Given the description of an element on the screen output the (x, y) to click on. 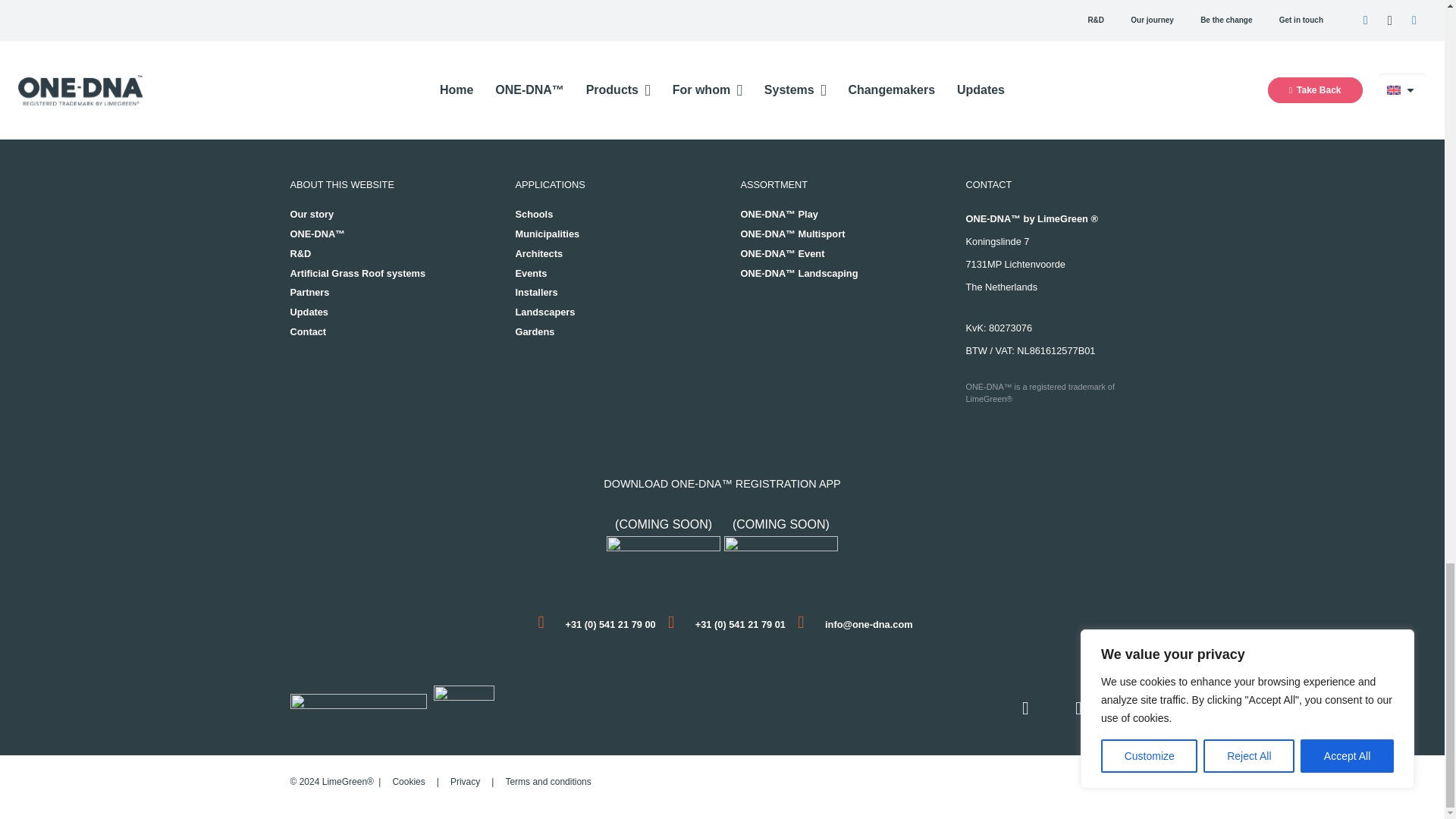
Facebook (1025, 708)
LinkedIn (1077, 708)
Instagram (1131, 708)
